Given the description of an element on the screen output the (x, y) to click on. 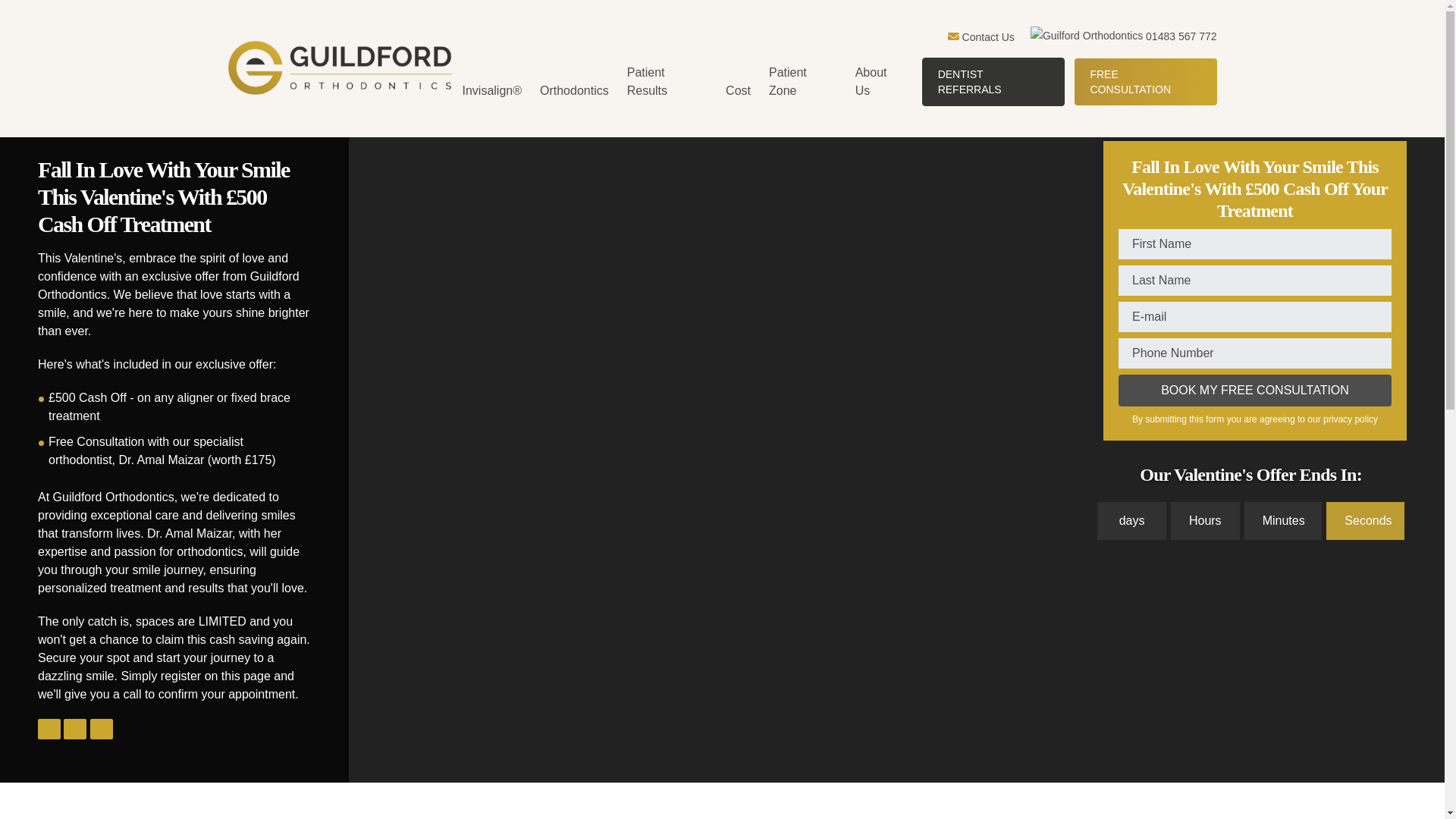
DENTIST REFERRALS (993, 81)
Guilford Orthodontics (1086, 35)
Please enter first name (1254, 244)
Cost (738, 90)
Please enter last name (1254, 280)
FREE CONSULTATION (1144, 81)
Please enter a valid phone number (1254, 353)
Patient Zone (803, 81)
Please enter a valid email address (1254, 317)
Orthodontics (574, 90)
Guilford Orthodontics (953, 36)
Privacy policy (1350, 419)
01483 567 772 (1123, 36)
Patient Results (667, 81)
Guilford Orthodontics (339, 67)
